Given the description of an element on the screen output the (x, y) to click on. 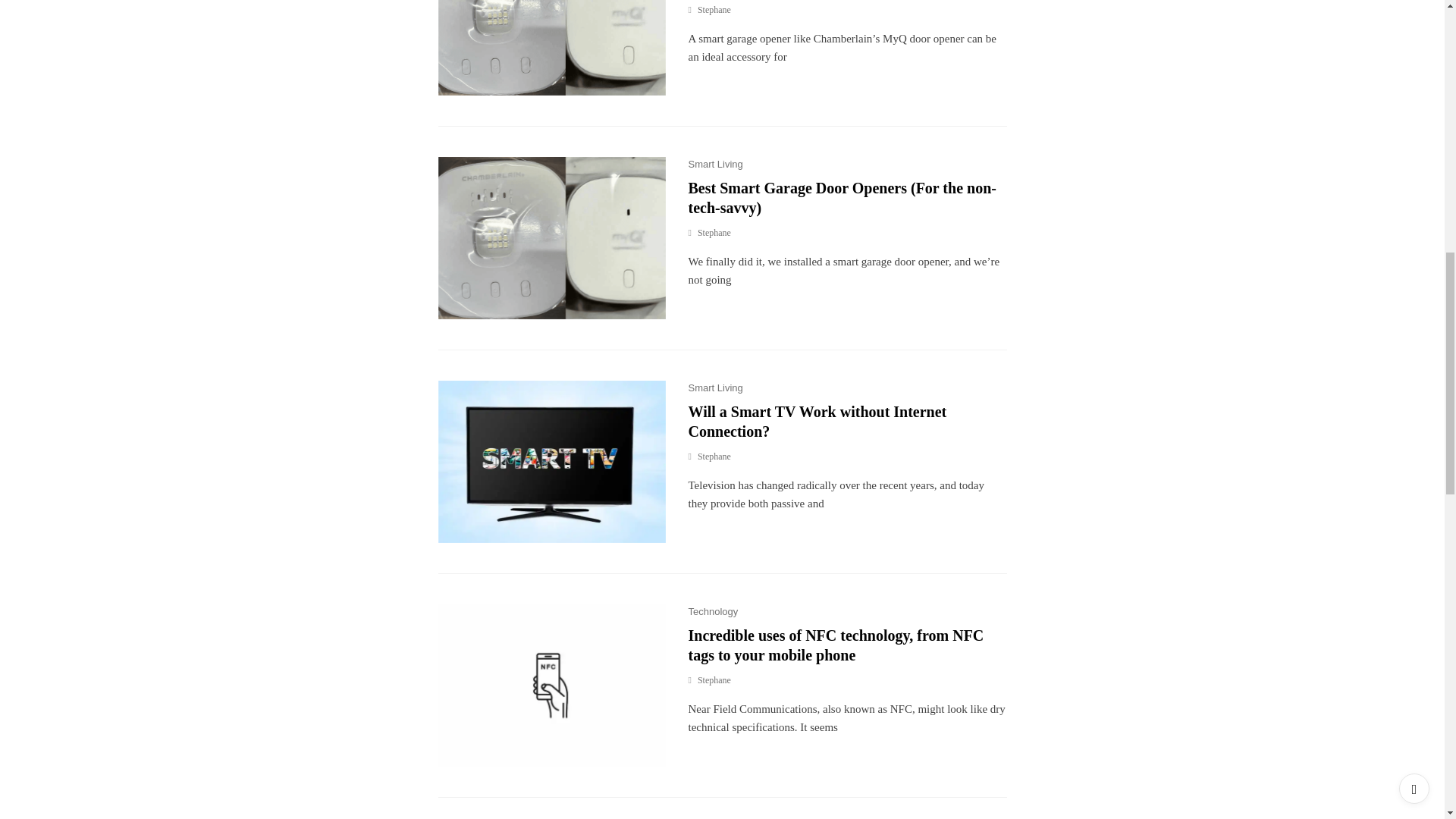
Smart Living (715, 163)
0897174b e5f1 4364 ad1f e1d4abb9199f (551, 238)
Smart Living (715, 387)
Stephane (709, 233)
Stephane (709, 10)
0897174b e5f1 4364 ad1f e1d4abb9199f (551, 48)
NFC (551, 685)
1 1 (551, 461)
